Given the description of an element on the screen output the (x, y) to click on. 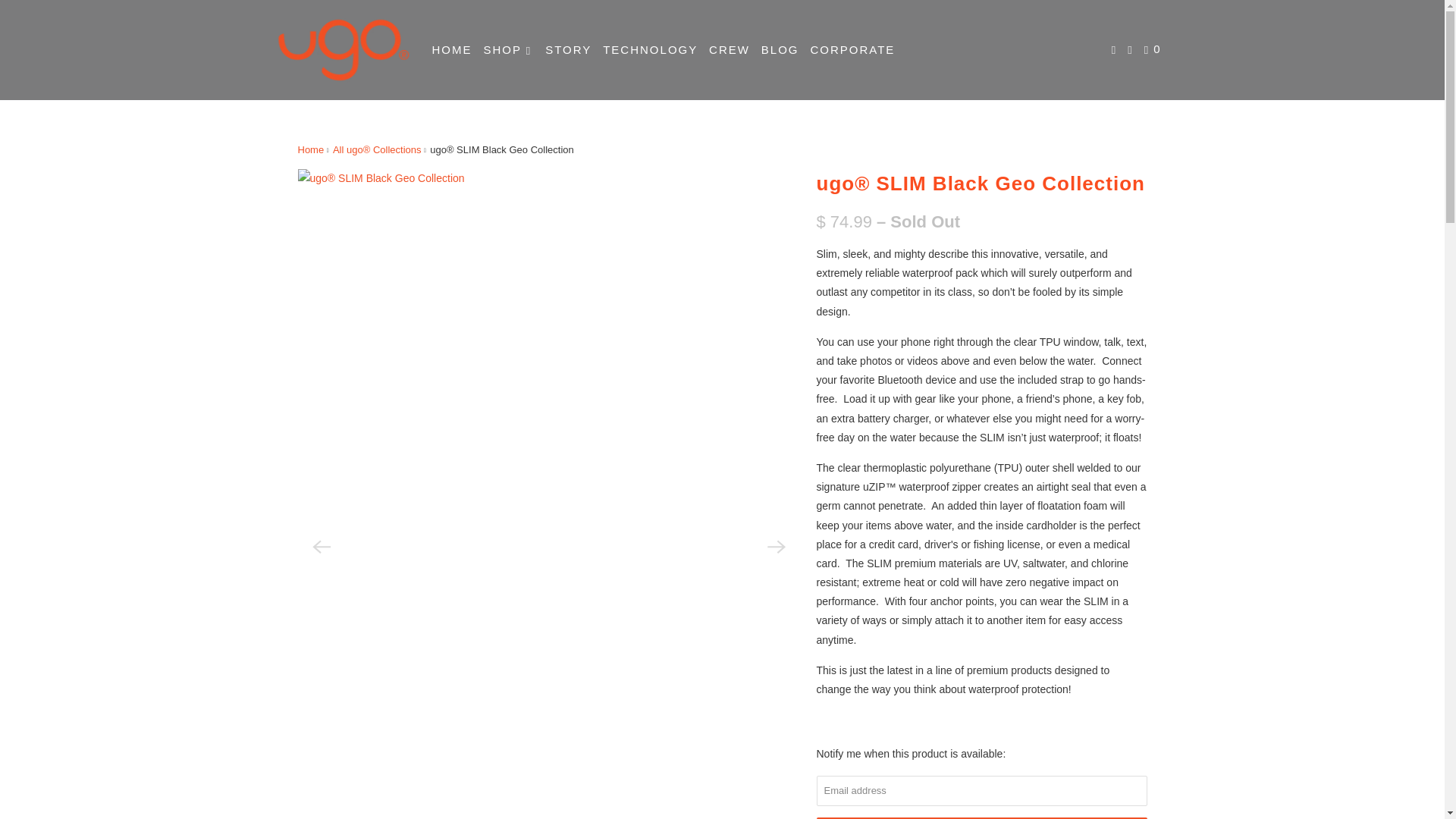
ugo wear (342, 49)
ugo wear (310, 149)
HOME (452, 49)
